Given the description of an element on the screen output the (x, y) to click on. 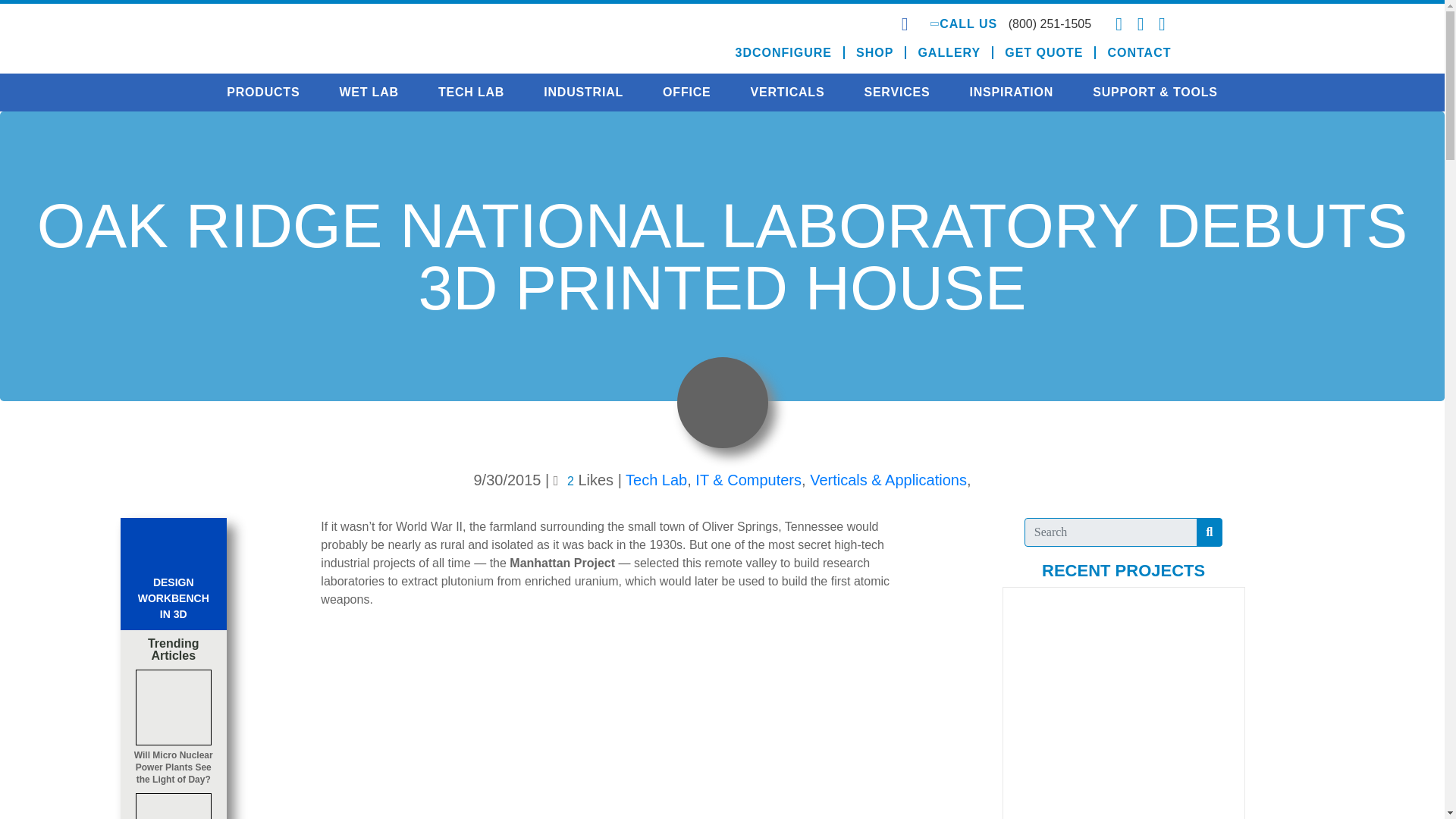
GET QUOTE (1044, 51)
CONTACT (1133, 51)
GALLERY (948, 51)
3DCONFIGURE (783, 51)
PRODUCTS (262, 92)
SHOP (874, 51)
